Given the description of an element on the screen output the (x, y) to click on. 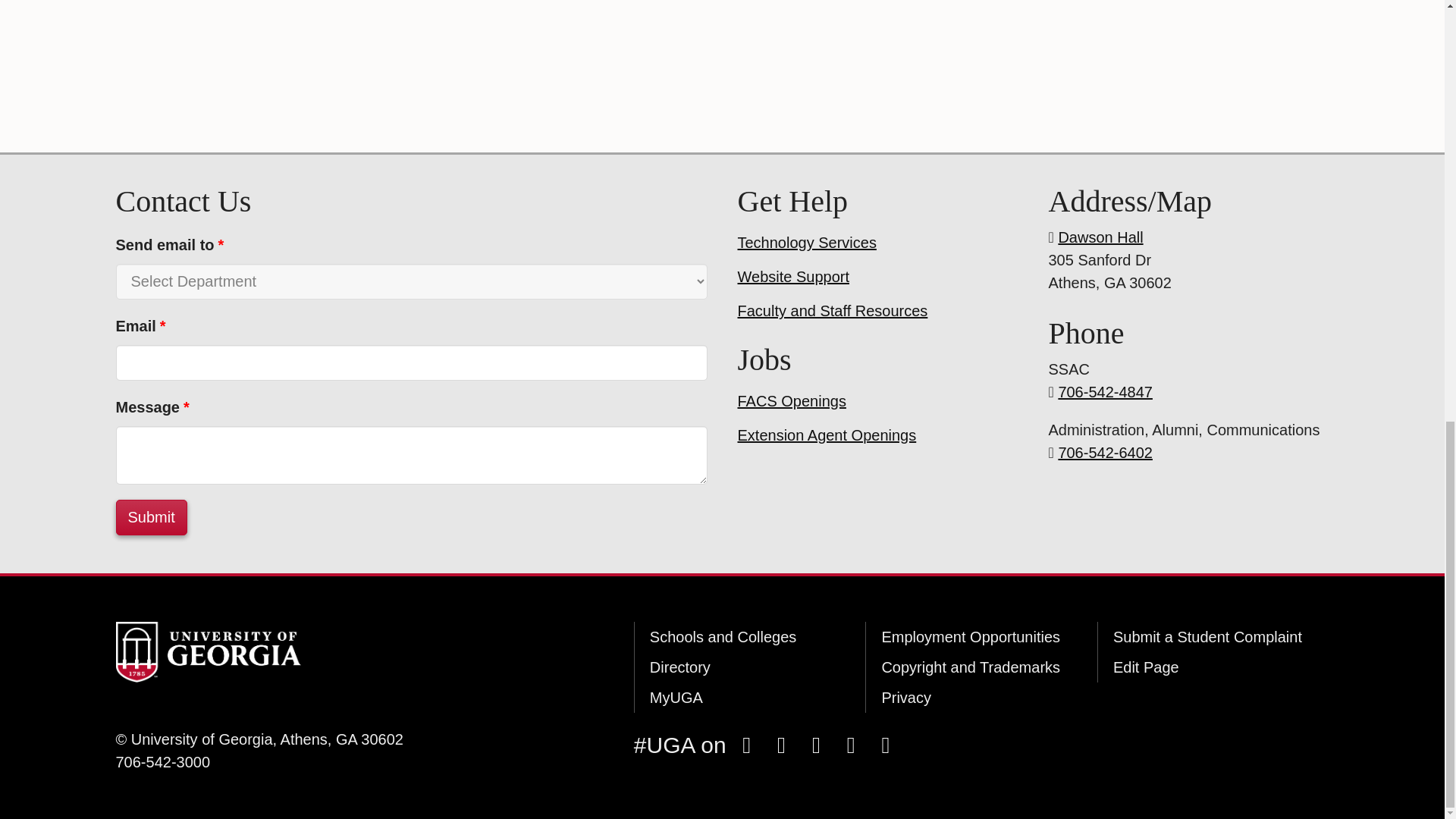
Snapchat (816, 744)
LinkedIn (884, 744)
Facebook (746, 744)
YouTube (849, 744)
Instagram (781, 744)
